Given the description of an element on the screen output the (x, y) to click on. 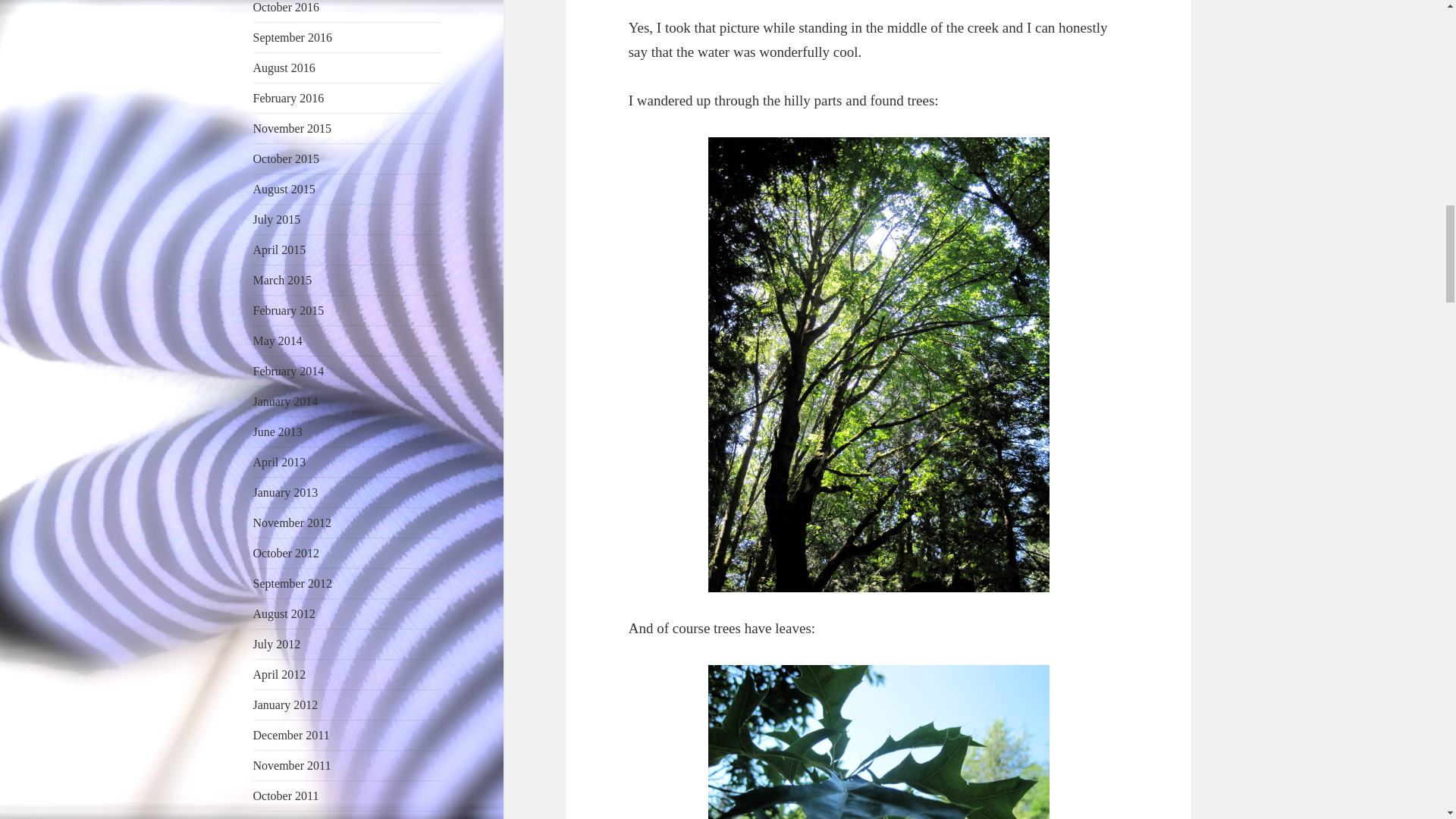
1007 will-oak (878, 742)
February 2016 (288, 97)
August 2016 (284, 67)
September 2016 (292, 37)
October 2016 (286, 6)
